Given the description of an element on the screen output the (x, y) to click on. 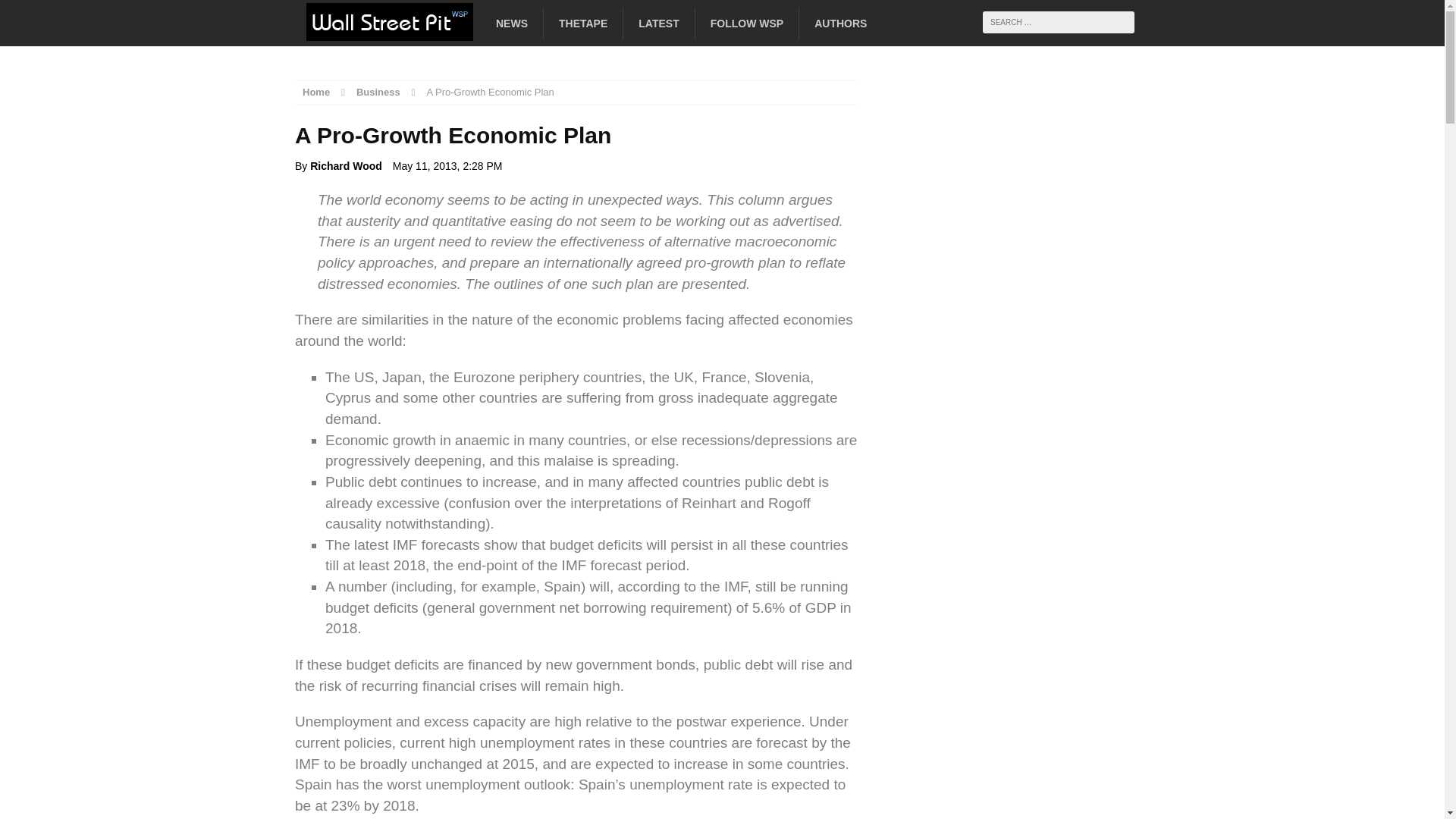
AUTHORS (839, 23)
THETAPE (583, 23)
FOLLOW WSP (745, 23)
Wall Street Pit (427, 28)
LATEST (658, 23)
NEWS (511, 23)
Home (316, 91)
Search (37, 11)
Business (378, 91)
